Given the description of an element on the screen output the (x, y) to click on. 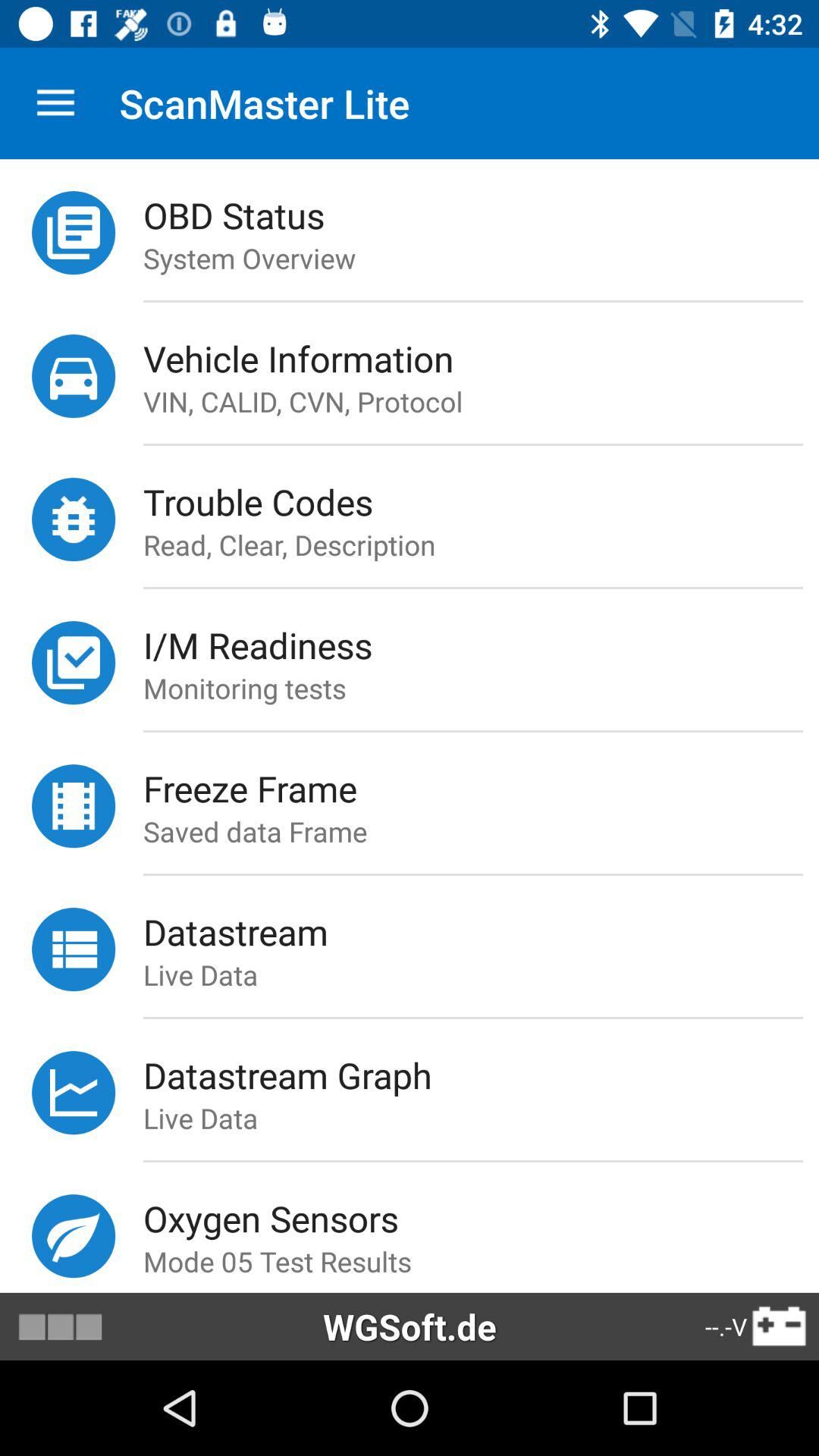
choose system overview item (481, 257)
